Given the description of an element on the screen output the (x, y) to click on. 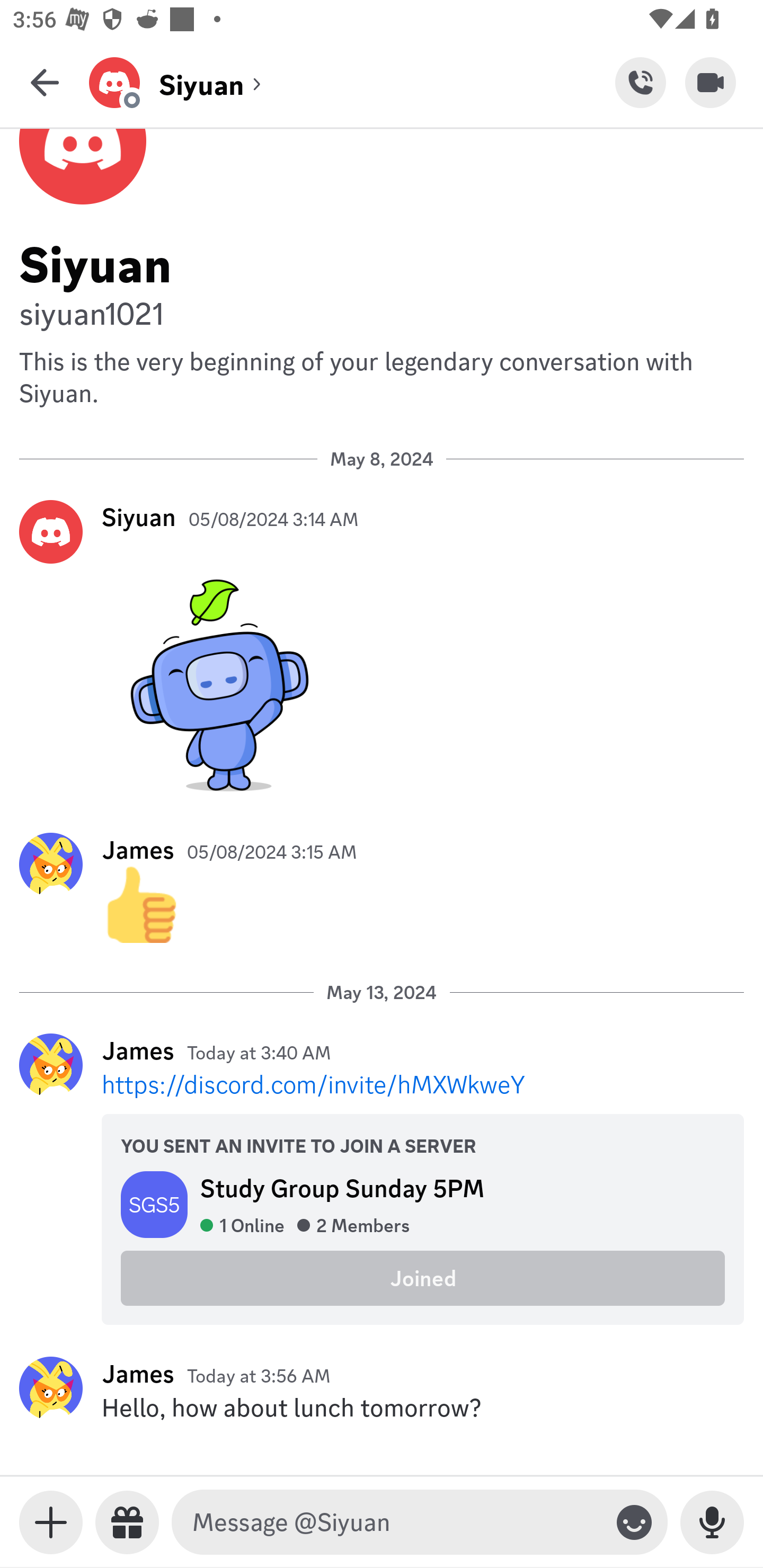
Siyuan (channel) Siyuan Siyuan (channel) (351, 82)
Back (44, 82)
Start Voice Call (640, 82)
Start Video Call (710, 82)
Sean (direct message) Sean 21m Sean: Red Lobster (381, 367)
Siyuan 05/08/2024 3:14 AM (381, 650)
Siyuan (138, 517)
James (137, 849)
James (137, 1050)
Joined (422, 1278)
James (137, 1373)
Toggle media keyboard (50, 1522)
Send a gift (126, 1522)
Record Voice Message (711, 1522)
Message @Siyuan (395, 1522)
Toggle emoji keyboard (634, 1522)
